Given the description of an element on the screen output the (x, y) to click on. 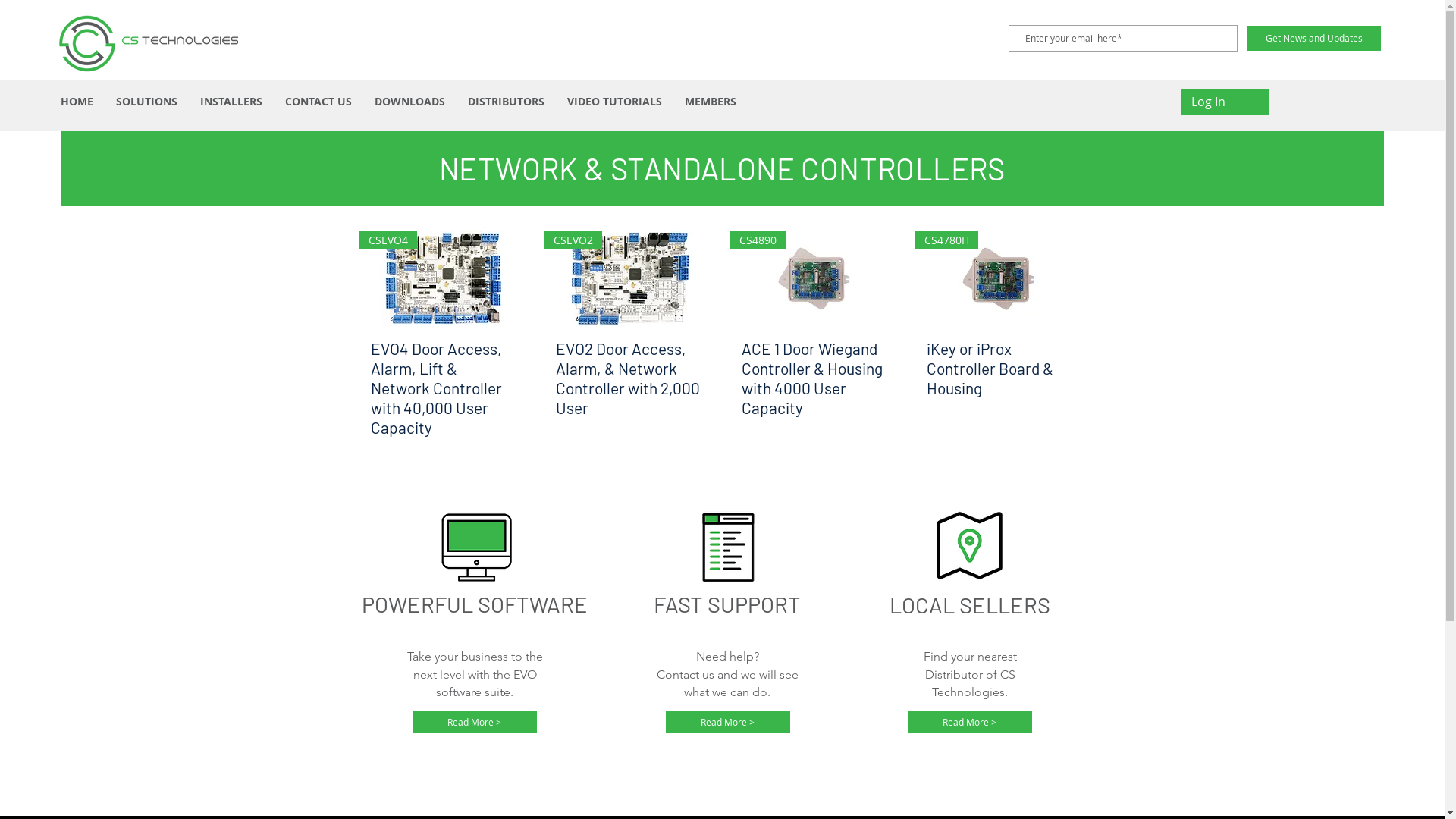
Read More > Element type: text (474, 721)
Read More > Element type: text (968, 721)
CSEVO4 Element type: text (444, 278)
INSTALLERS Element type: text (230, 101)
CSEVO2 Element type: text (629, 278)
HOME Element type: text (76, 101)
iKey or iProx Controller Board & Housing Element type: text (1000, 387)
CONTACT US Element type: text (318, 101)
MEMBERS Element type: text (710, 101)
CS4890 Element type: text (814, 278)
Get News and Updates Element type: text (1313, 38)
Log In Element type: text (1208, 101)
SOLUTIONS Element type: text (146, 101)
CS4780H Element type: text (1000, 278)
Read More > Element type: text (727, 721)
VIDEO TUTORIALS Element type: text (614, 101)
DISTRIBUTORS Element type: text (505, 101)
DOWNLOADS Element type: text (409, 101)
